Given the description of an element on the screen output the (x, y) to click on. 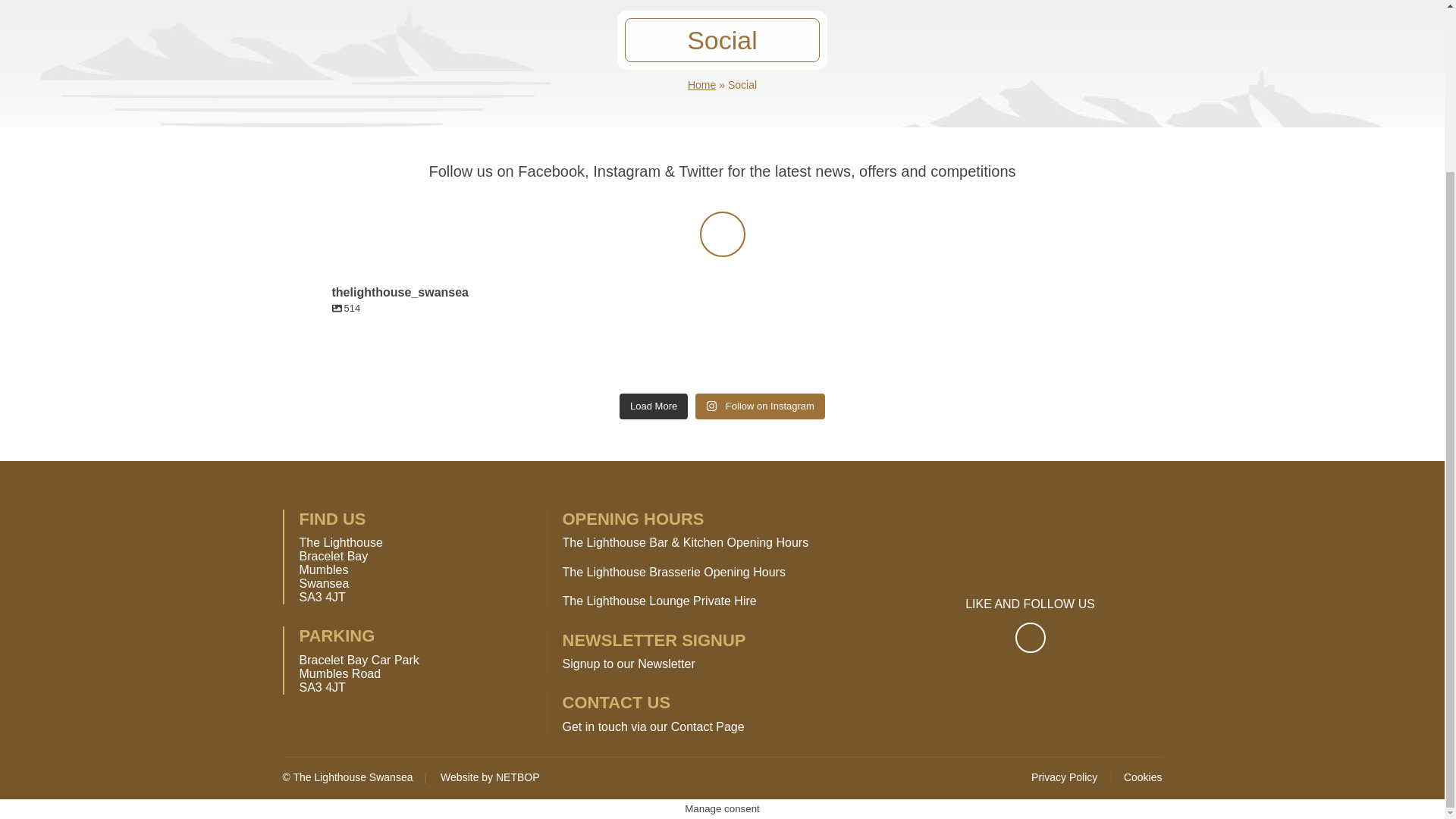
Instagram (721, 234)
Find us on Instagram (721, 234)
Home (701, 84)
